Given the description of an element on the screen output the (x, y) to click on. 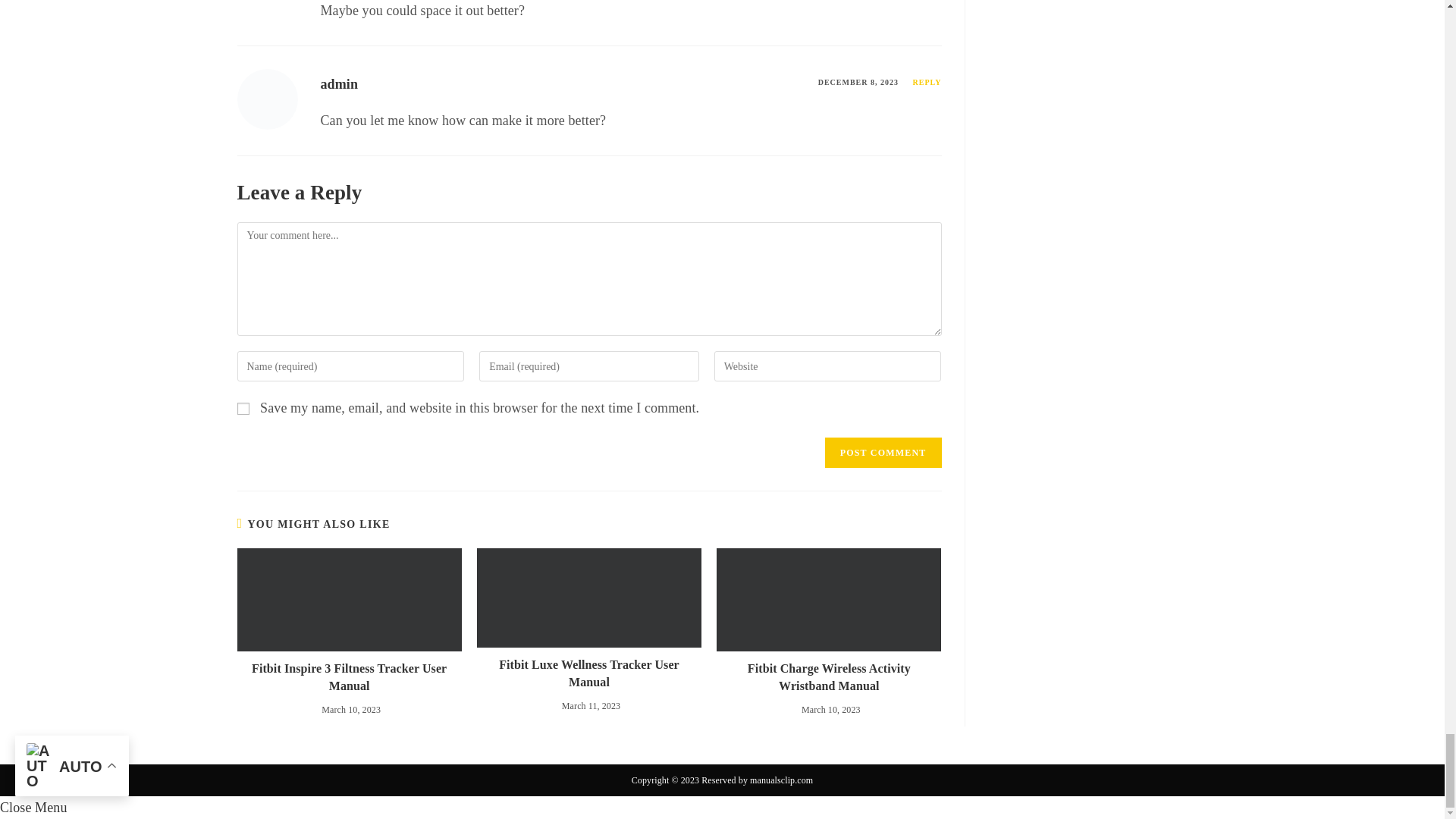
yes (241, 408)
Post Comment (883, 452)
